Given the description of an element on the screen output the (x, y) to click on. 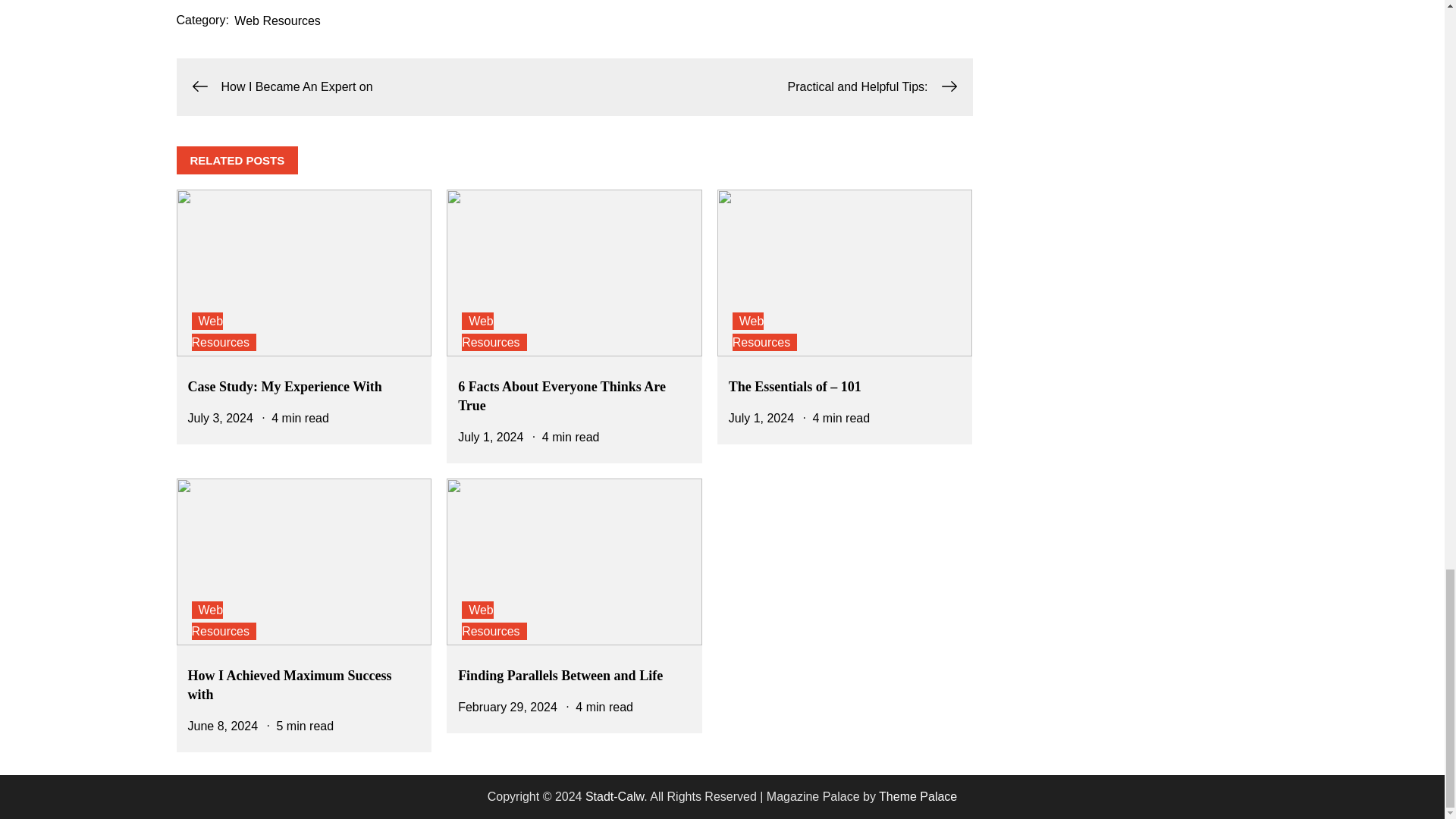
6 Facts About Everyone Thinks Are True (561, 396)
July 1, 2024 (761, 418)
February 29, 2024 (507, 707)
Web Resources (223, 331)
Web Resources (277, 20)
July 1, 2024 (490, 436)
Finding Parallels Between and Life (560, 675)
July 3, 2024 (220, 418)
Case Study: My Experience With (284, 386)
Web Resources (223, 620)
